Given the description of an element on the screen output the (x, y) to click on. 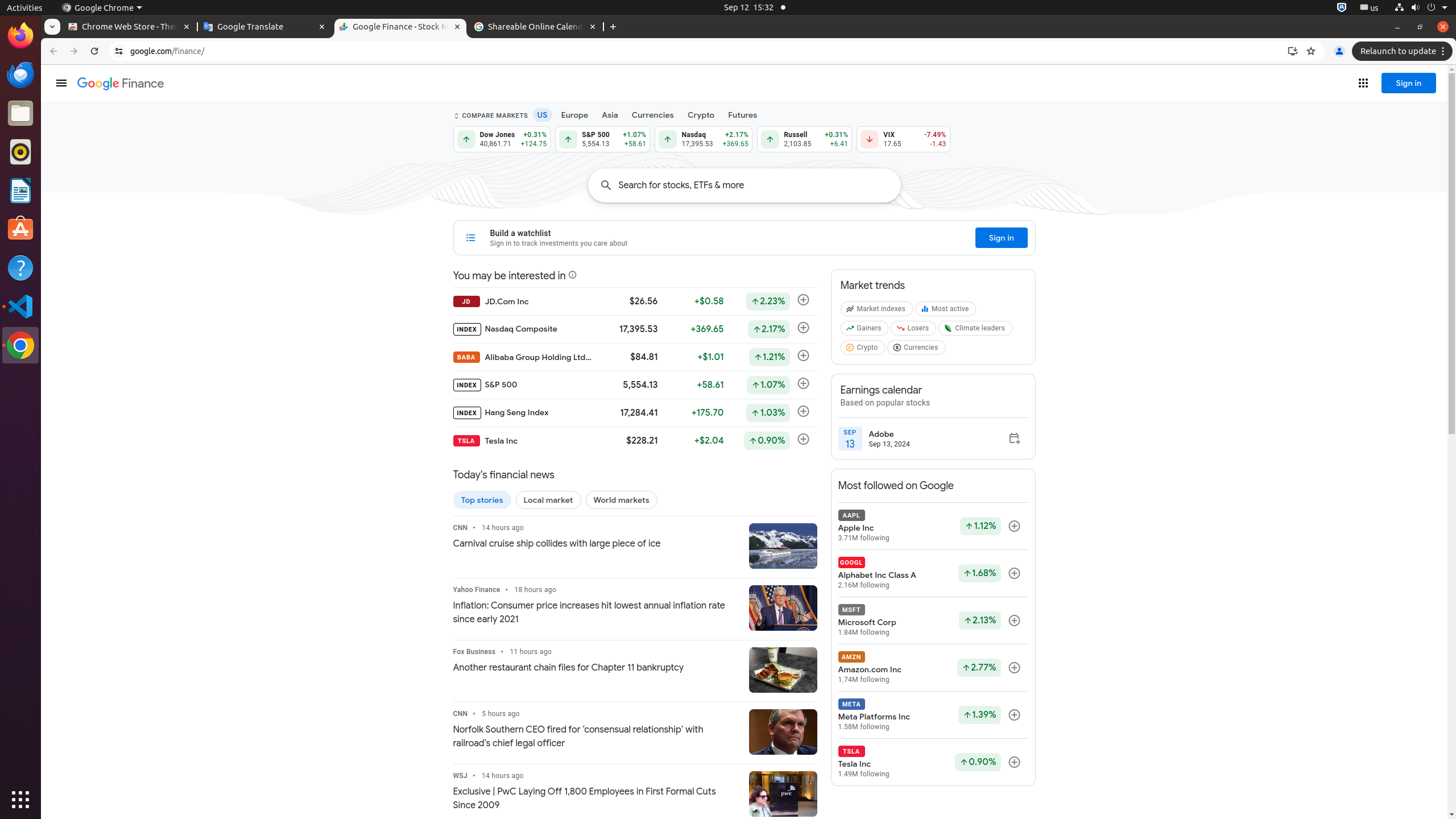
Finance Element type: link (120, 84)
TSLA Tesla Inc $228.21 +$2.04 Up by 0.90% Follow Element type: link (634, 440)
TSLA Tesla Inc 1.49M following Up by 0.90% Follow Element type: link (932, 761)
Google apps Element type: push-button (1362, 82)
GLeaf logo Climate leaders Element type: link (976, 330)
